Given the description of an element on the screen output the (x, y) to click on. 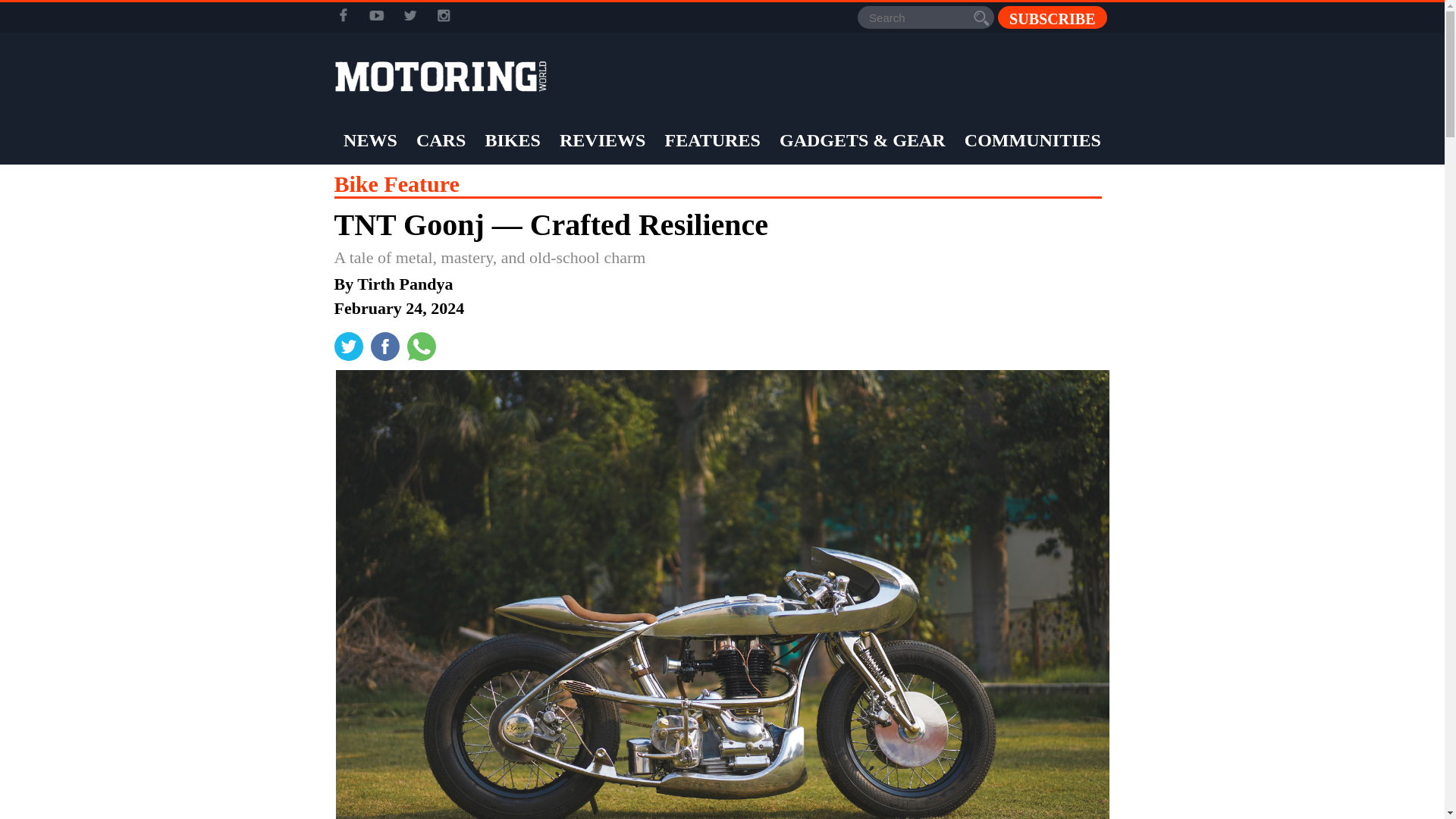
REVIEWS (602, 140)
Tirth Pandya (404, 283)
CARS (440, 140)
SUBSCRIBE (1051, 16)
Bike Feature (395, 183)
FEATURES (712, 140)
Posts by Tirth Pandya (404, 283)
COMMUNITIES (1032, 140)
BIKES (511, 140)
NEWS (370, 140)
